Given the description of an element on the screen output the (x, y) to click on. 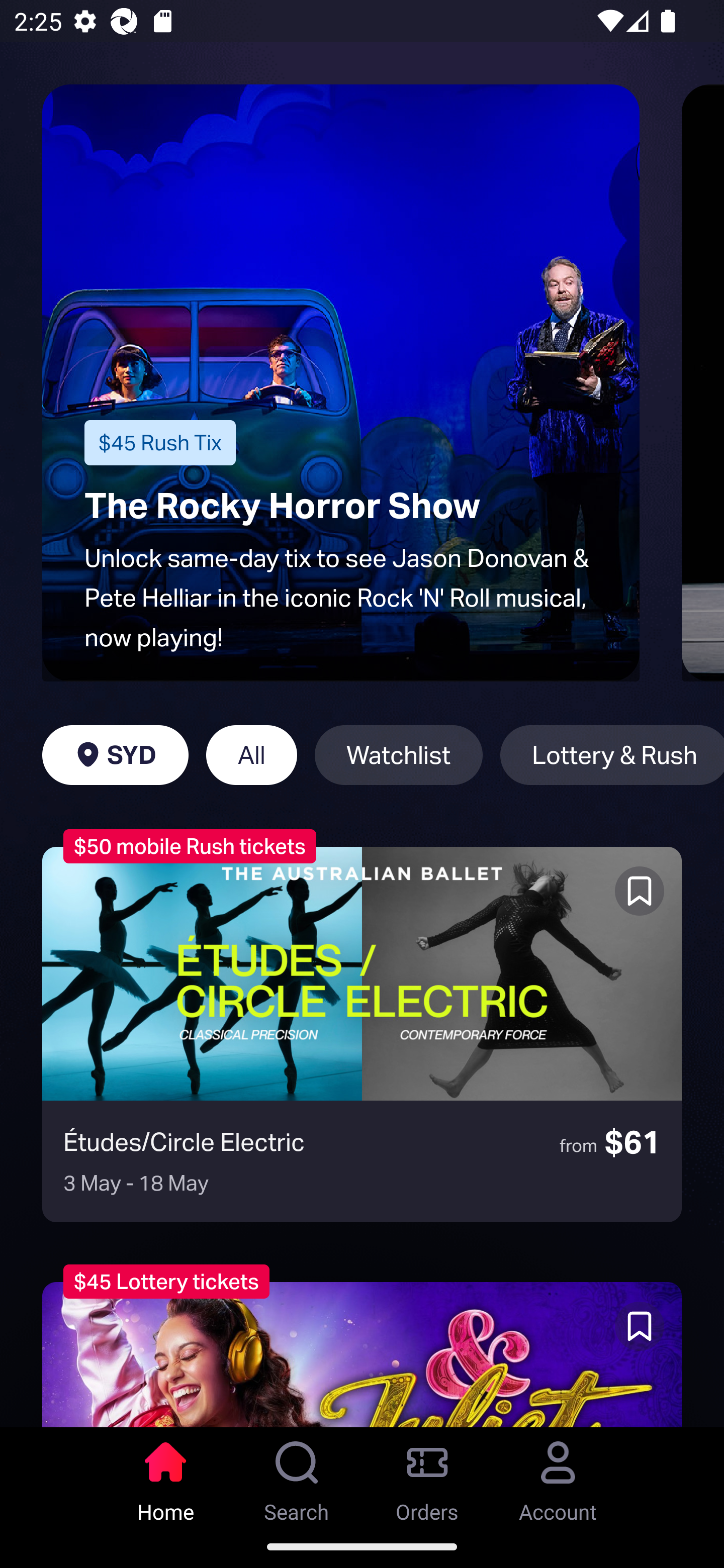
SYD (114, 754)
All (251, 754)
Watchlist (398, 754)
Lottery & Rush (612, 754)
Études/Circle Electric from $61 3 May - 18 May (361, 1033)
Search (296, 1475)
Orders (427, 1475)
Account (558, 1475)
